Given the description of an element on the screen output the (x, y) to click on. 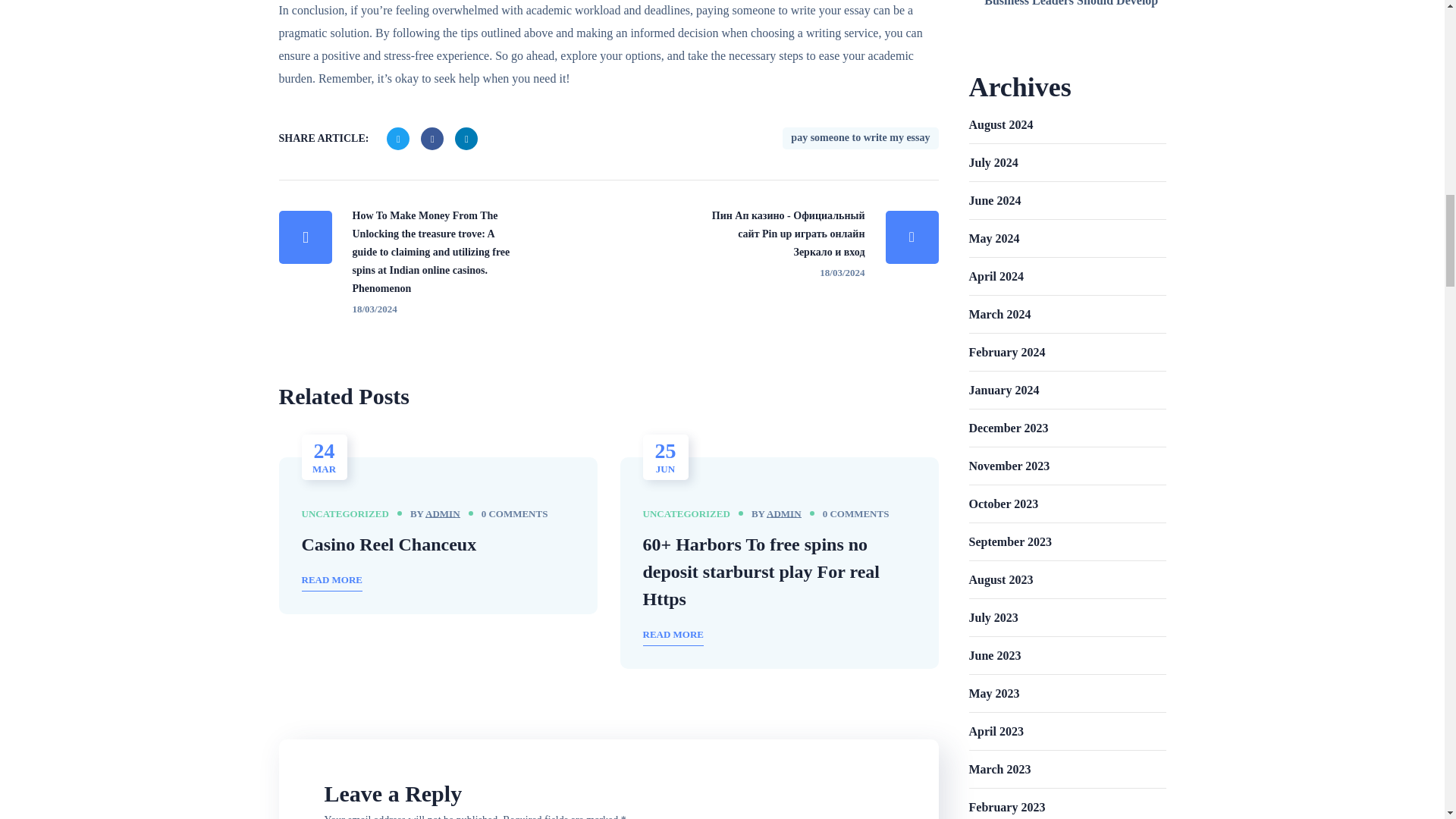
0 COMMENTS (514, 513)
pay someone to write my essay (860, 138)
Casino Reel Chanceux (389, 544)
ADMIN (442, 513)
Leave a reply (514, 513)
Leave a reply (855, 513)
UNCATEGORIZED (344, 513)
READ MORE (331, 580)
